Given the description of an element on the screen output the (x, y) to click on. 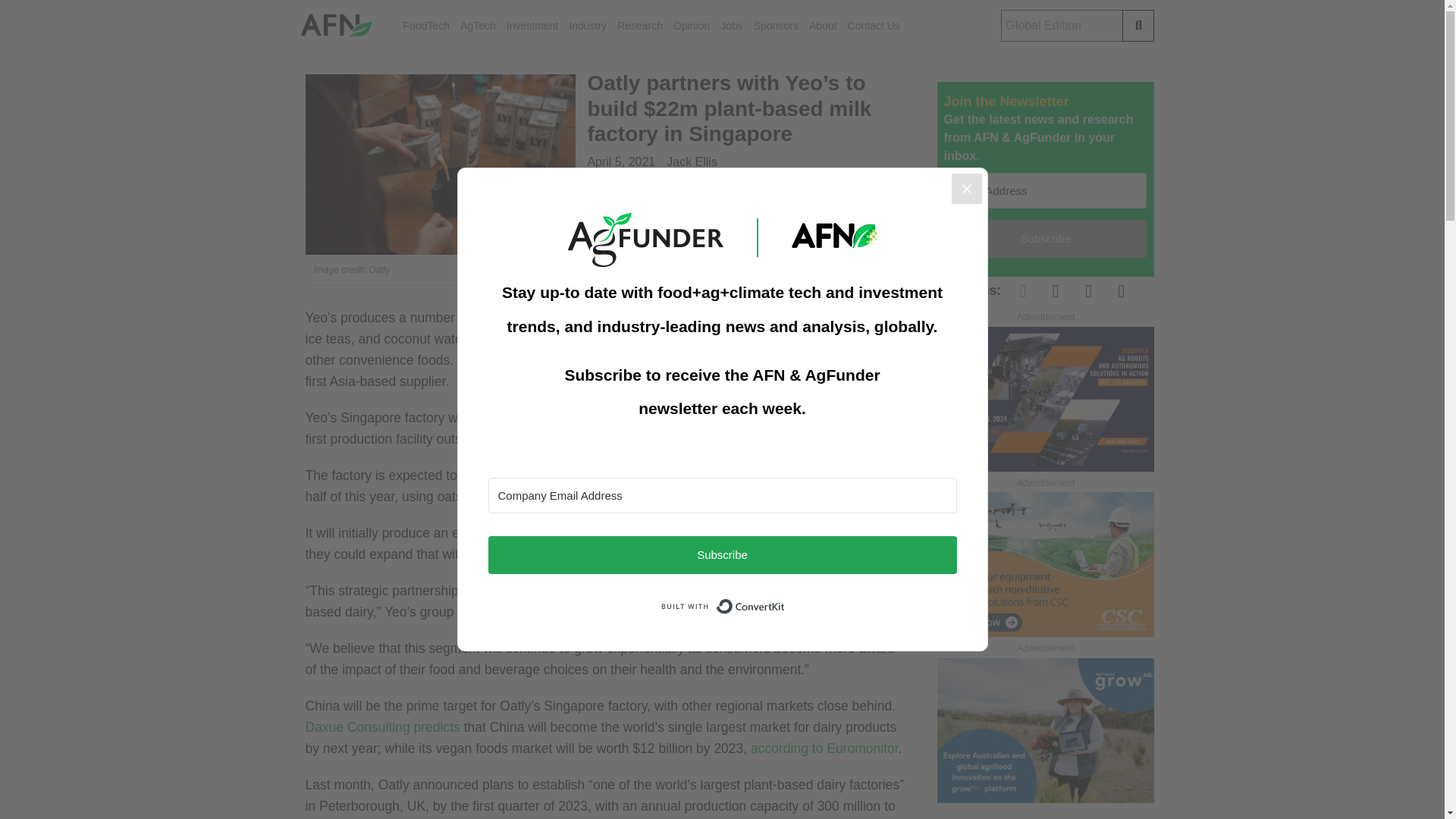
Investment (531, 25)
Research (639, 25)
FoodTech (426, 25)
Contact Us (873, 25)
AgTech (478, 25)
Industry (588, 25)
Sponsors (775, 25)
Opinion (691, 25)
